Given the description of an element on the screen output the (x, y) to click on. 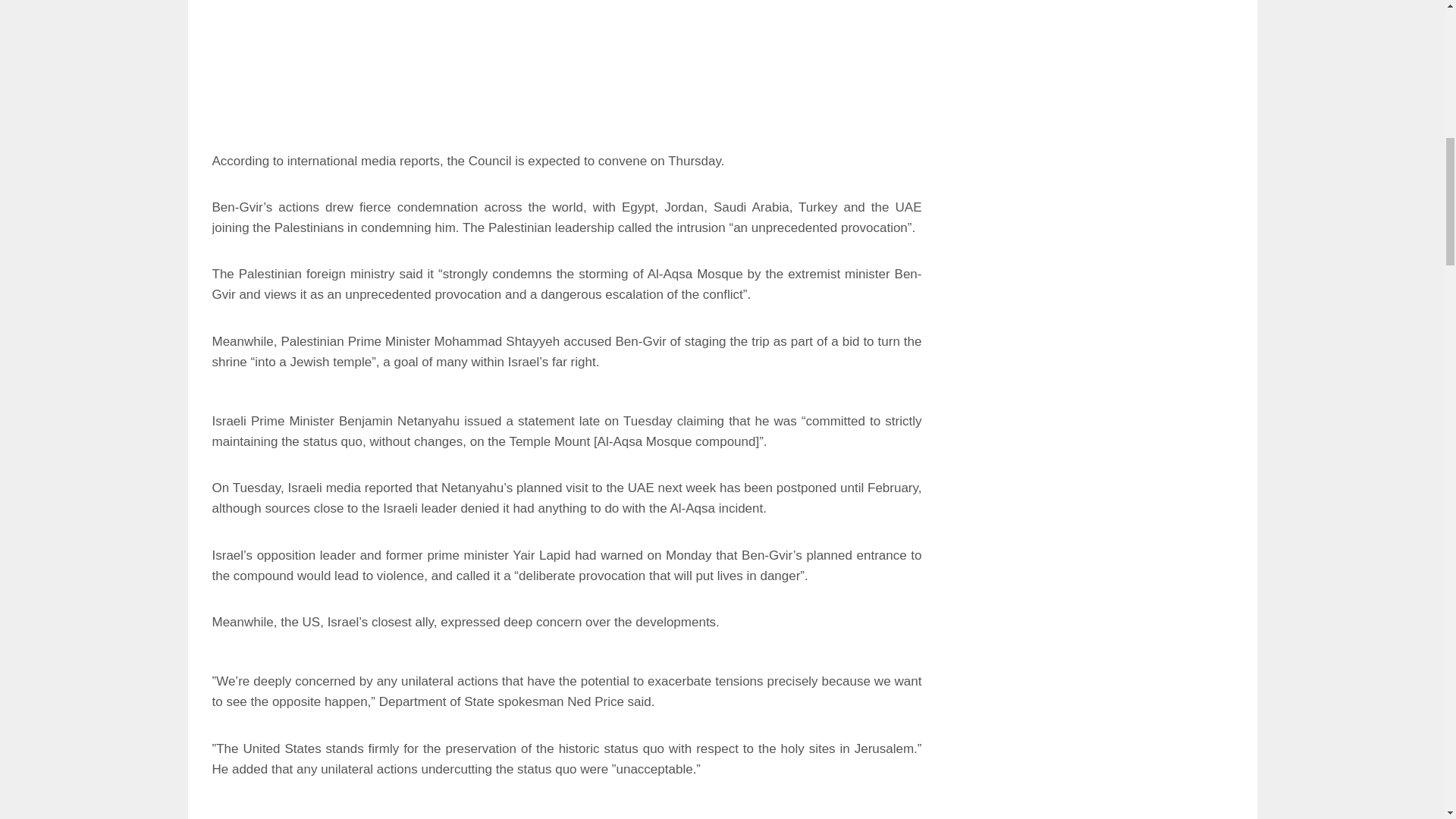
Advertisement (566, 65)
